Given the description of an element on the screen output the (x, y) to click on. 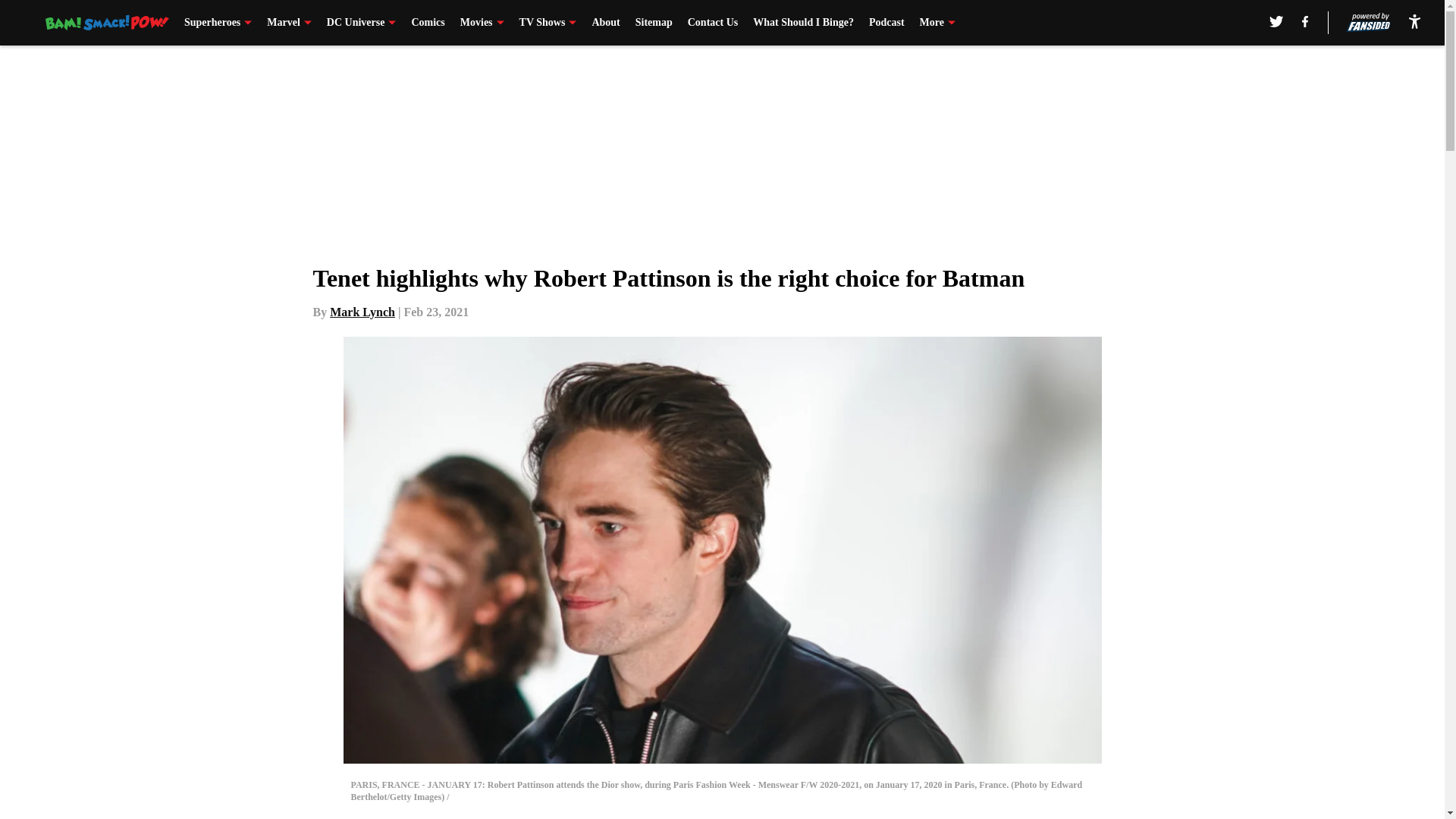
About (605, 22)
More (937, 22)
Podcast (886, 22)
What Should I Binge? (802, 22)
Contact Us (712, 22)
Movies (481, 22)
Mark Lynch (362, 311)
Sitemap (653, 22)
Comics (427, 22)
